Given the description of an element on the screen output the (x, y) to click on. 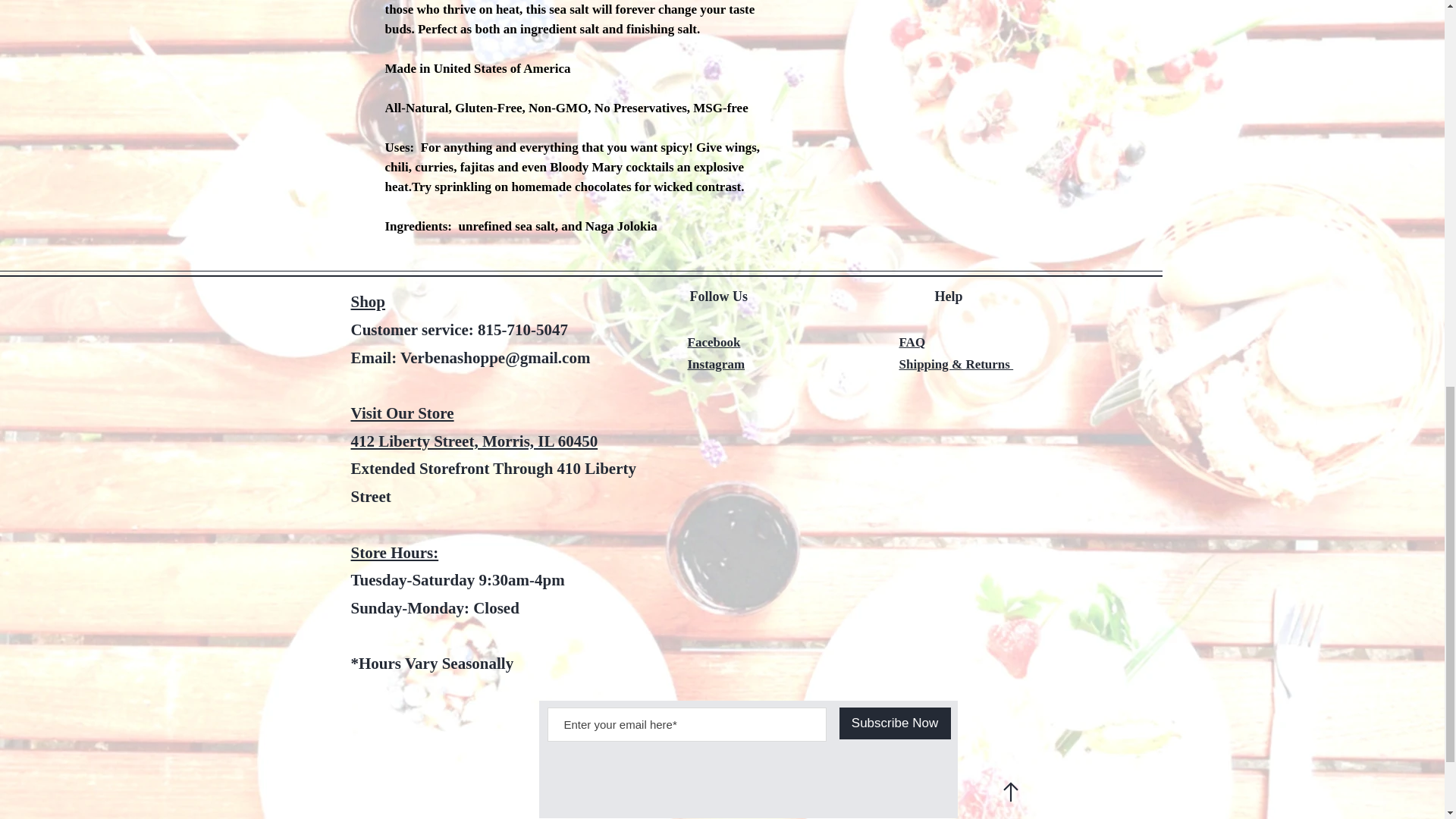
Subscribe Now (894, 723)
412 Liberty Street, Morris, IL 60450 (473, 440)
Shop (367, 301)
Visit Our Store (401, 413)
